Given the description of an element on the screen output the (x, y) to click on. 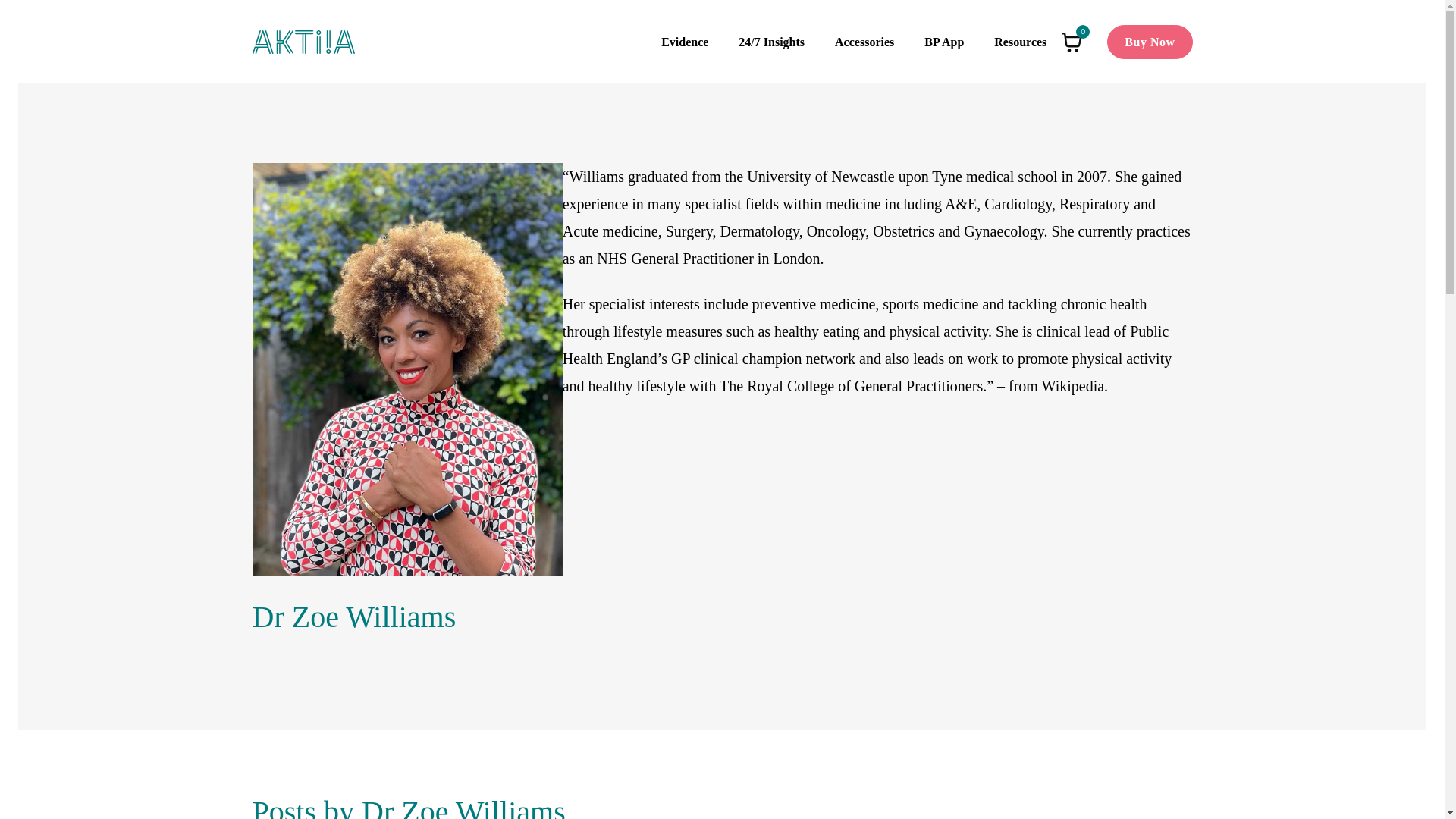
Resources (1019, 42)
Accessories (864, 42)
0 (1072, 42)
Buy Now (1149, 41)
Evidence (684, 42)
Wikipedia (1073, 385)
BP App (944, 42)
